Given the description of an element on the screen output the (x, y) to click on. 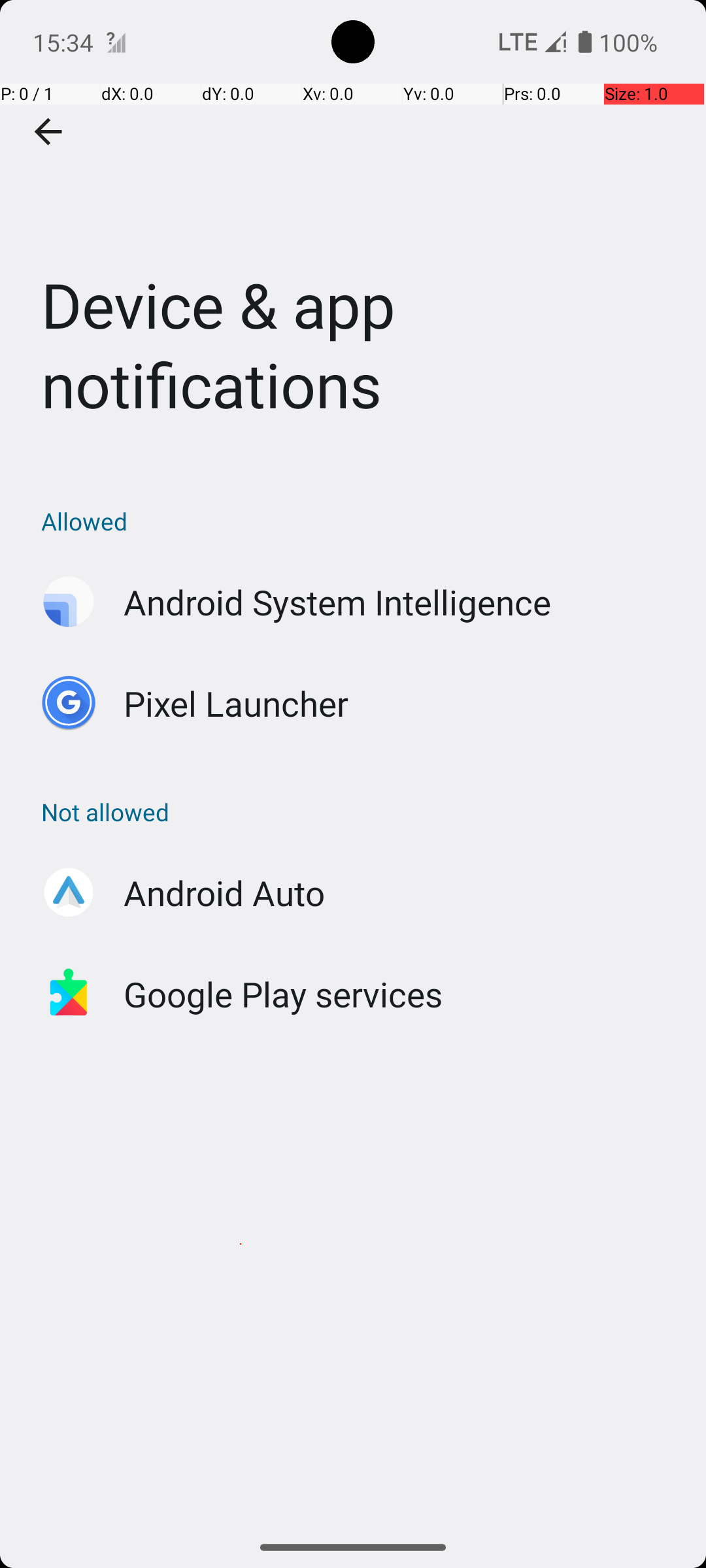
Allowed Element type: android.widget.TextView (359, 520)
Android System Intelligence Element type: android.widget.TextView (337, 601)
Pixel Launcher Element type: android.widget.TextView (236, 703)
Not allowed Element type: android.widget.TextView (359, 811)
Google Play services Element type: android.widget.TextView (283, 993)
